Given the description of an element on the screen output the (x, y) to click on. 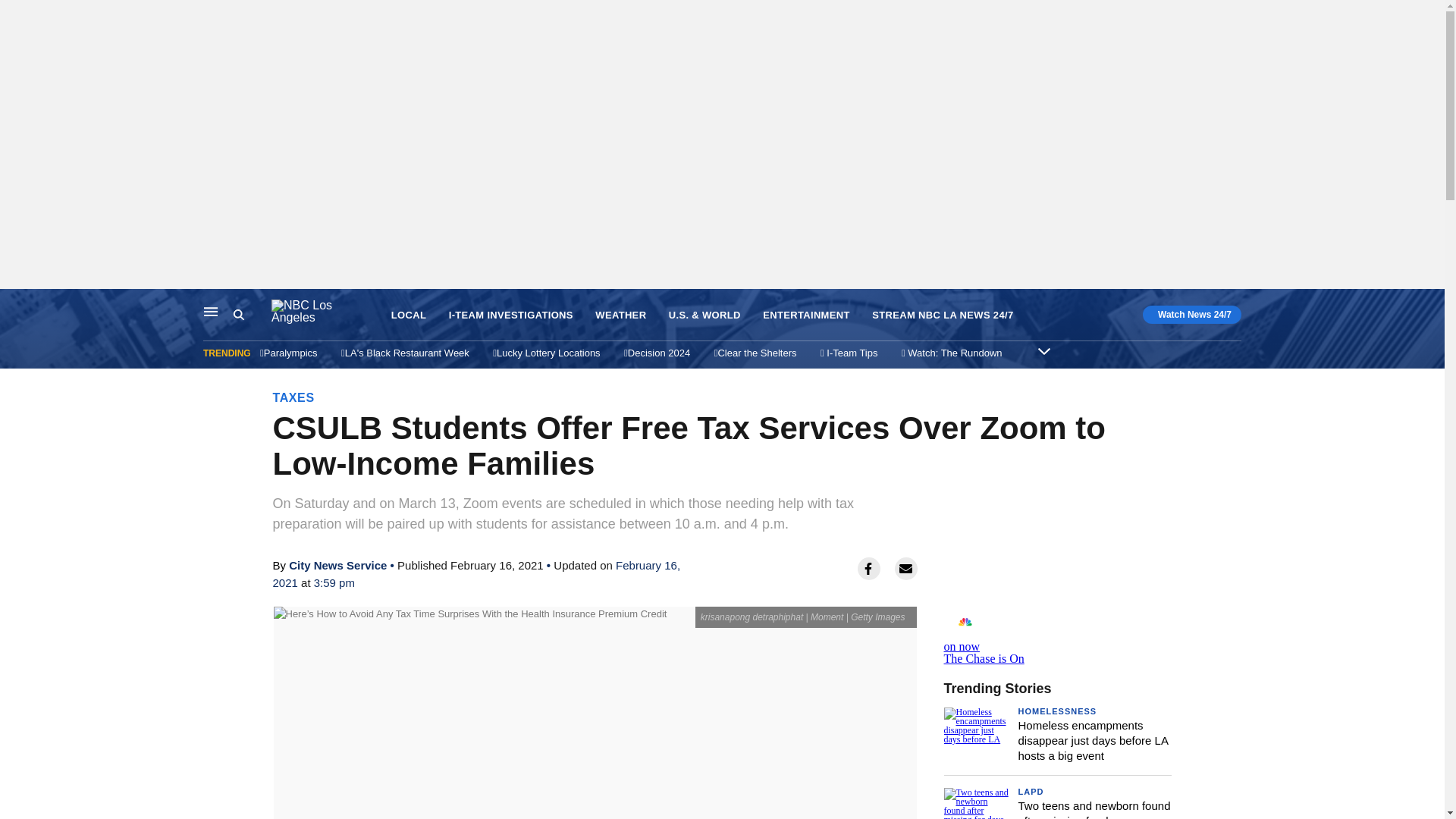
Skip to content (16, 304)
Search (252, 314)
I-TEAM INVESTIGATIONS (510, 315)
Search (1056, 635)
City News Service (238, 314)
LOCAL (337, 564)
ENTERTAINMENT (408, 315)
Expand (806, 315)
Main Navigation (1043, 350)
